Given the description of an element on the screen output the (x, y) to click on. 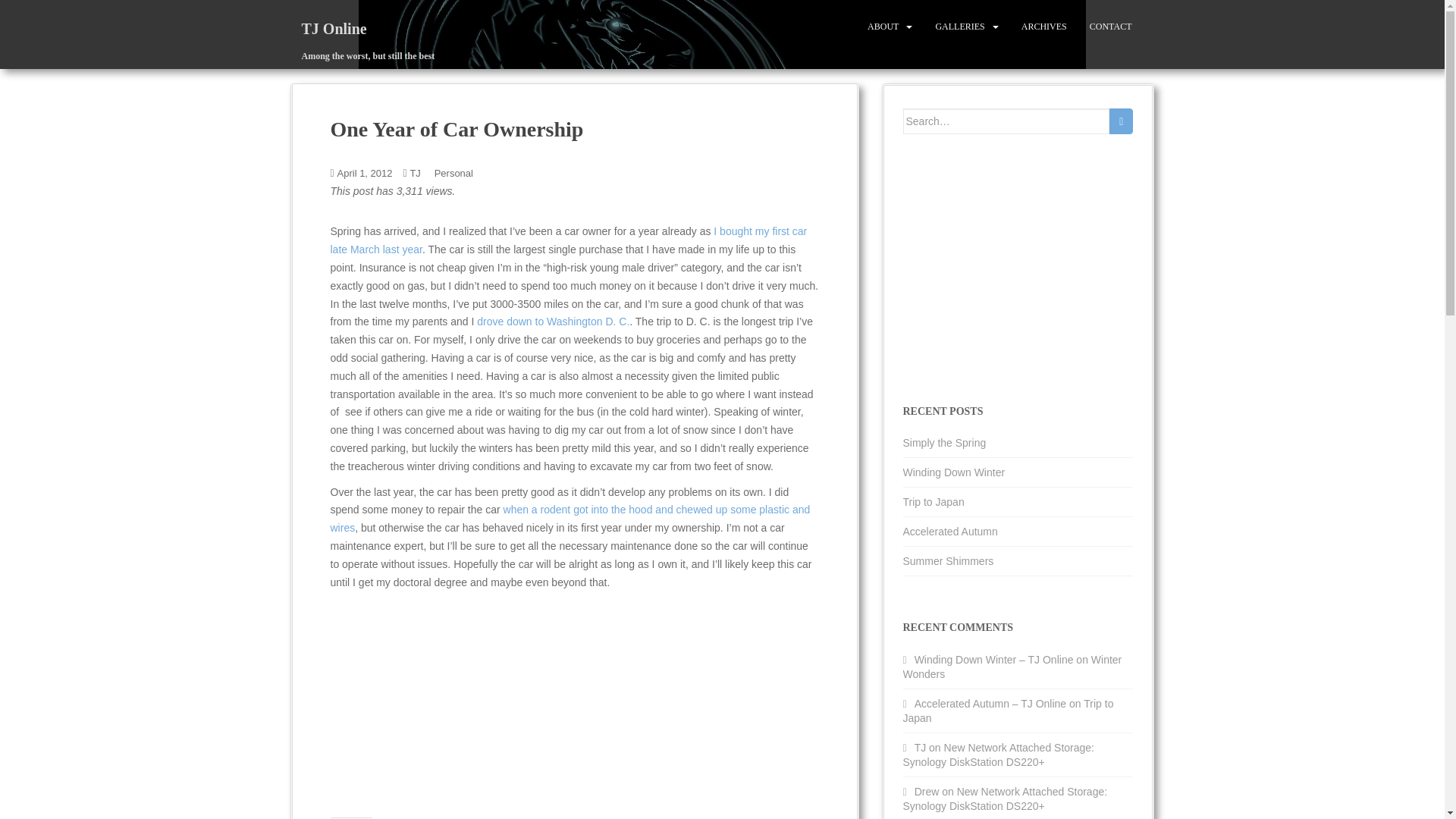
Winding Down Winter (953, 472)
Search (1120, 121)
TJ Online (333, 28)
Personal (453, 173)
GALLERIES (959, 26)
April 1, 2012 (365, 173)
Advertisement (457, 704)
Trip to Japan (932, 501)
TJ Online (333, 28)
Summer Shimmers (947, 561)
